Given the description of an element on the screen output the (x, y) to click on. 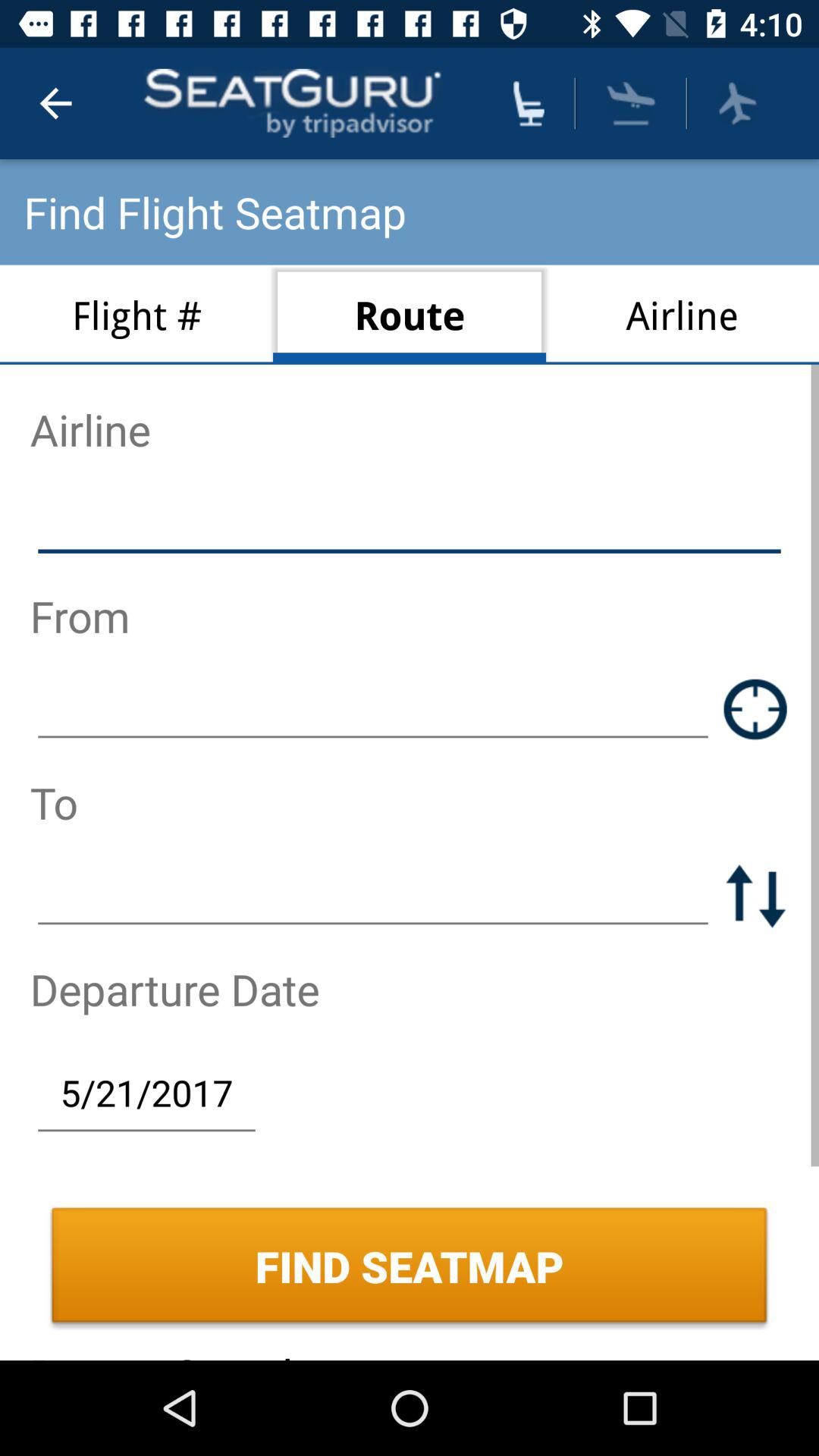
choose item next to the airline (409, 314)
